Given the description of an element on the screen output the (x, y) to click on. 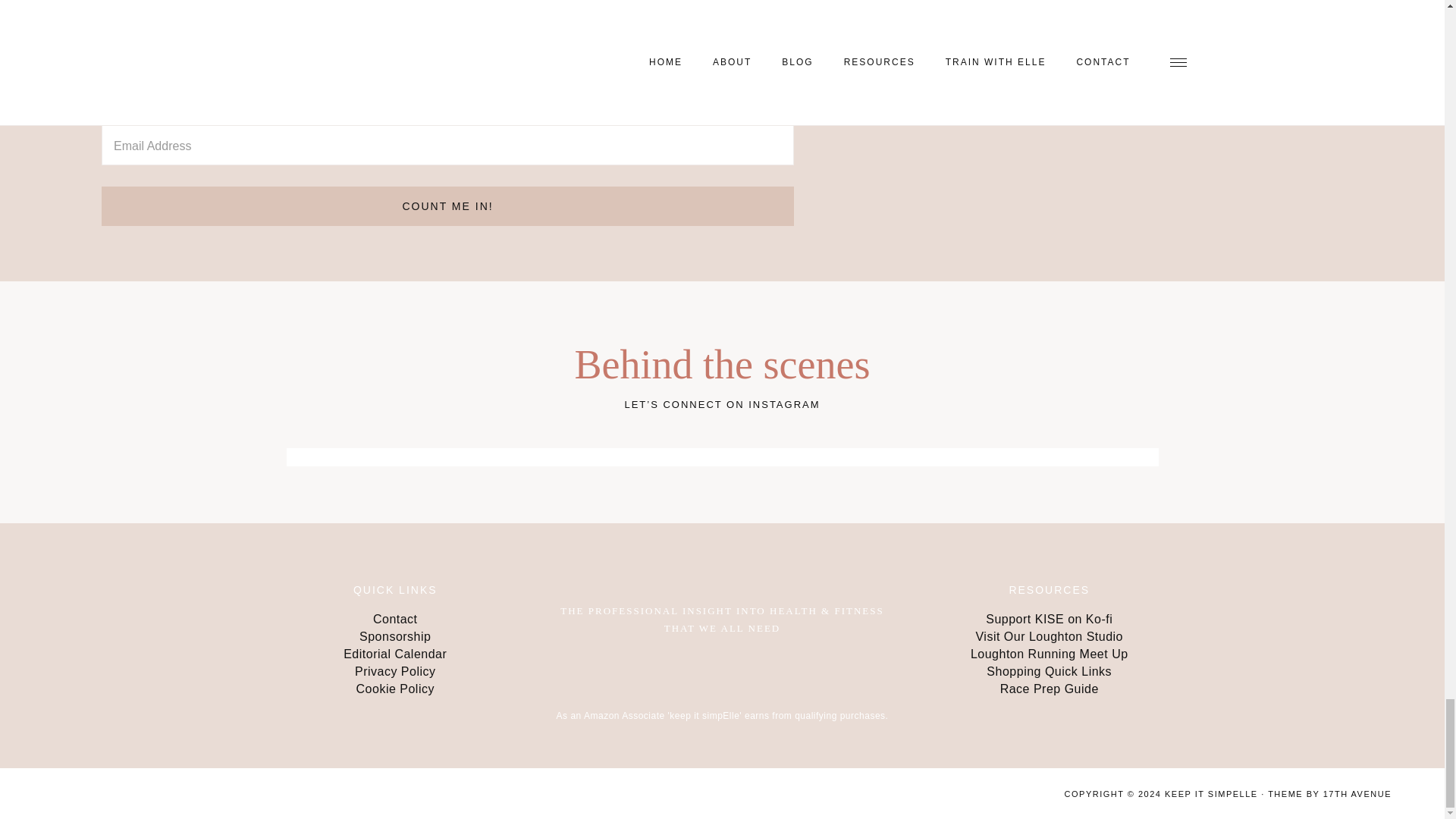
Count me in! (447, 206)
